Given the description of an element on the screen output the (x, y) to click on. 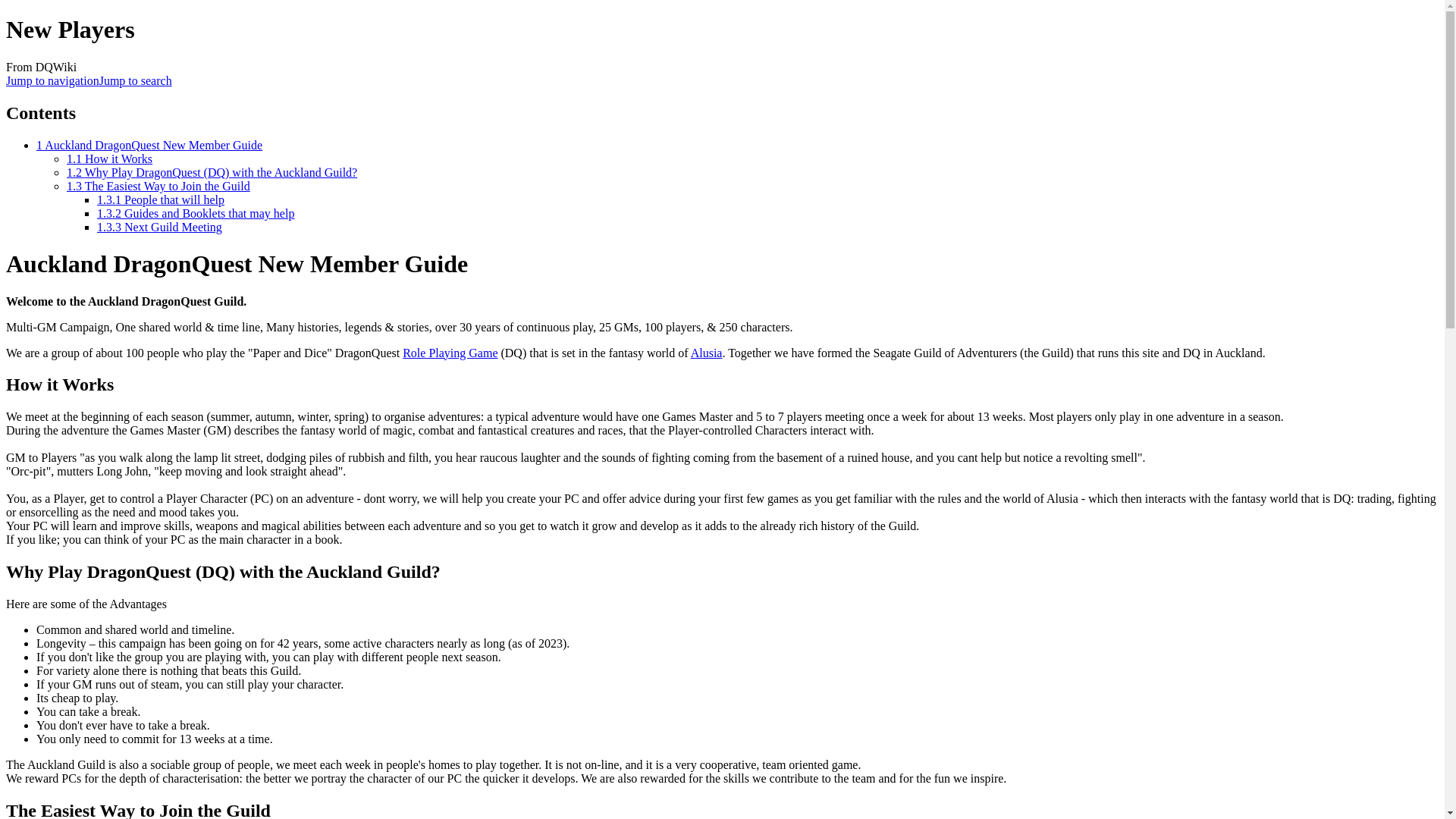
1.3 The Easiest Way to Join the Guild (158, 185)
Jump to navigation (52, 80)
Alusia (706, 352)
1.3.1 People that will help (160, 199)
1 Auckland DragonQuest New Member Guide (149, 144)
Alusia (706, 352)
1.3.3 Next Guild Meeting (159, 226)
Jump to search (135, 80)
1.1 How it Works (109, 158)
Role Playing Game (450, 352)
